Given the description of an element on the screen output the (x, y) to click on. 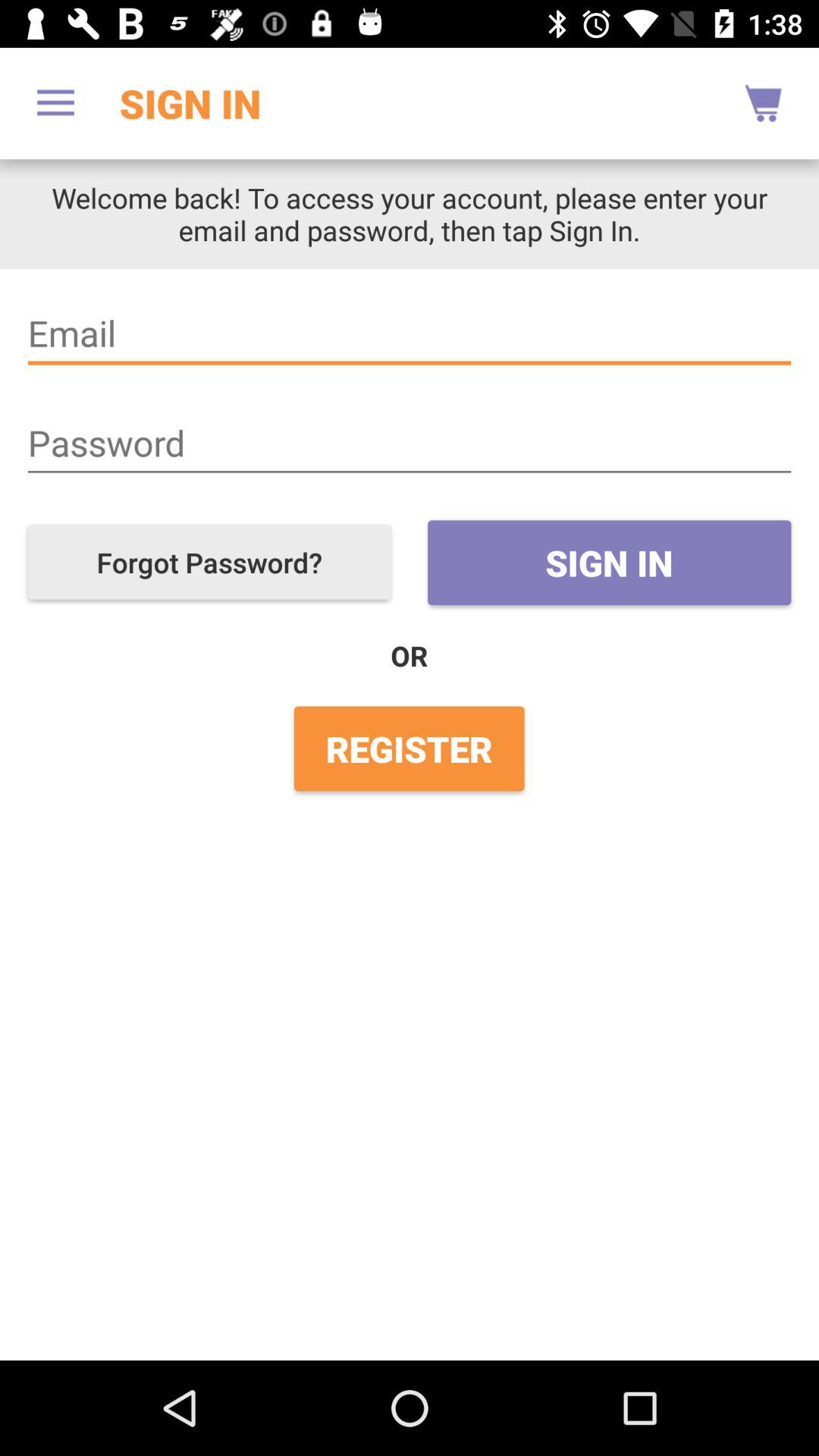
press icon above the welcome back to icon (763, 103)
